Given the description of an element on the screen output the (x, y) to click on. 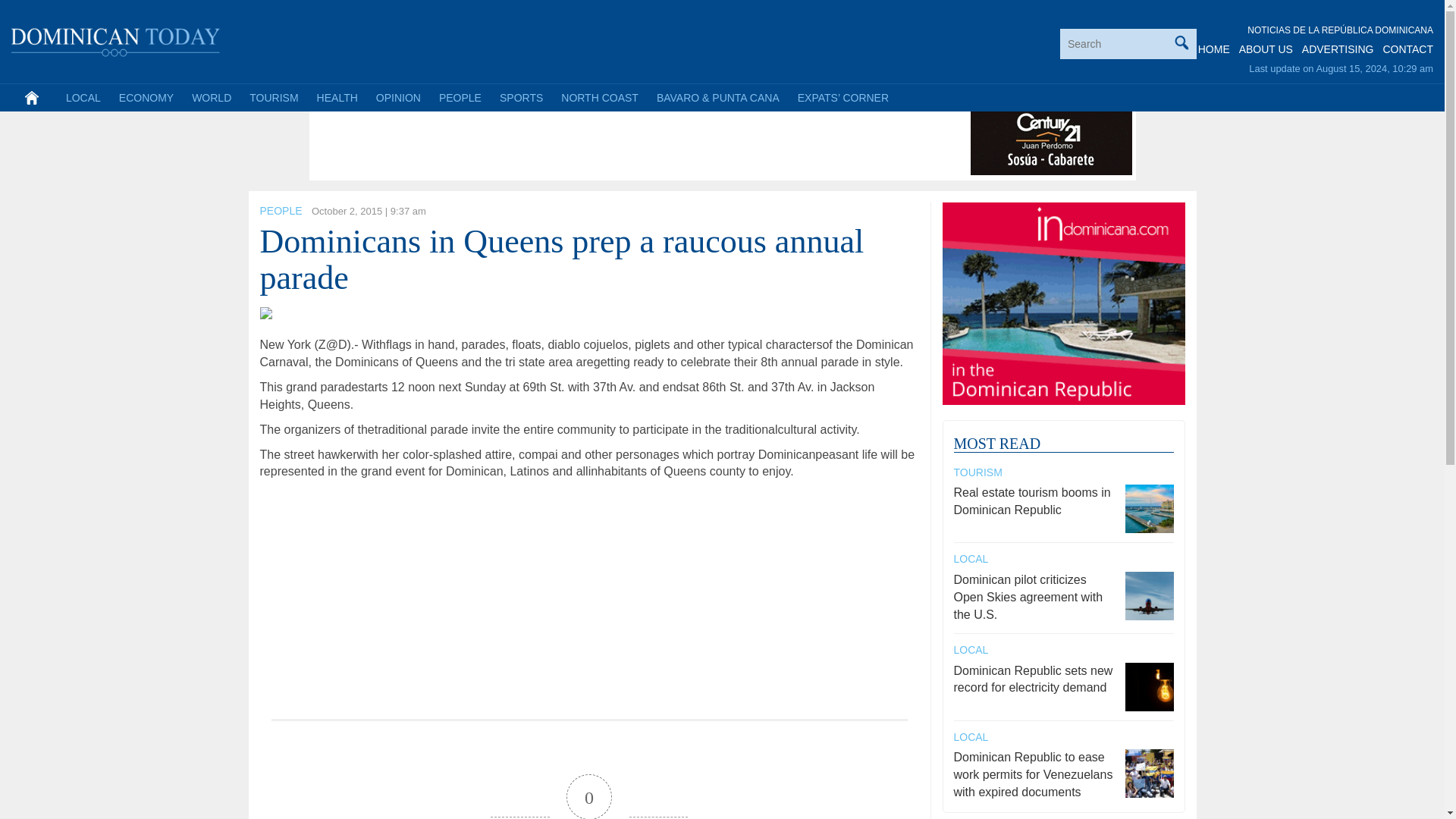
OPINION (397, 97)
ADVERTISING (1337, 49)
PEOPLE (459, 97)
TOURISM (273, 97)
SPORTS (520, 97)
PEOPLE (280, 210)
HEALTH (336, 97)
HOME (1214, 49)
NORTH COAST (599, 97)
LOCAL (83, 97)
